Given the description of an element on the screen output the (x, y) to click on. 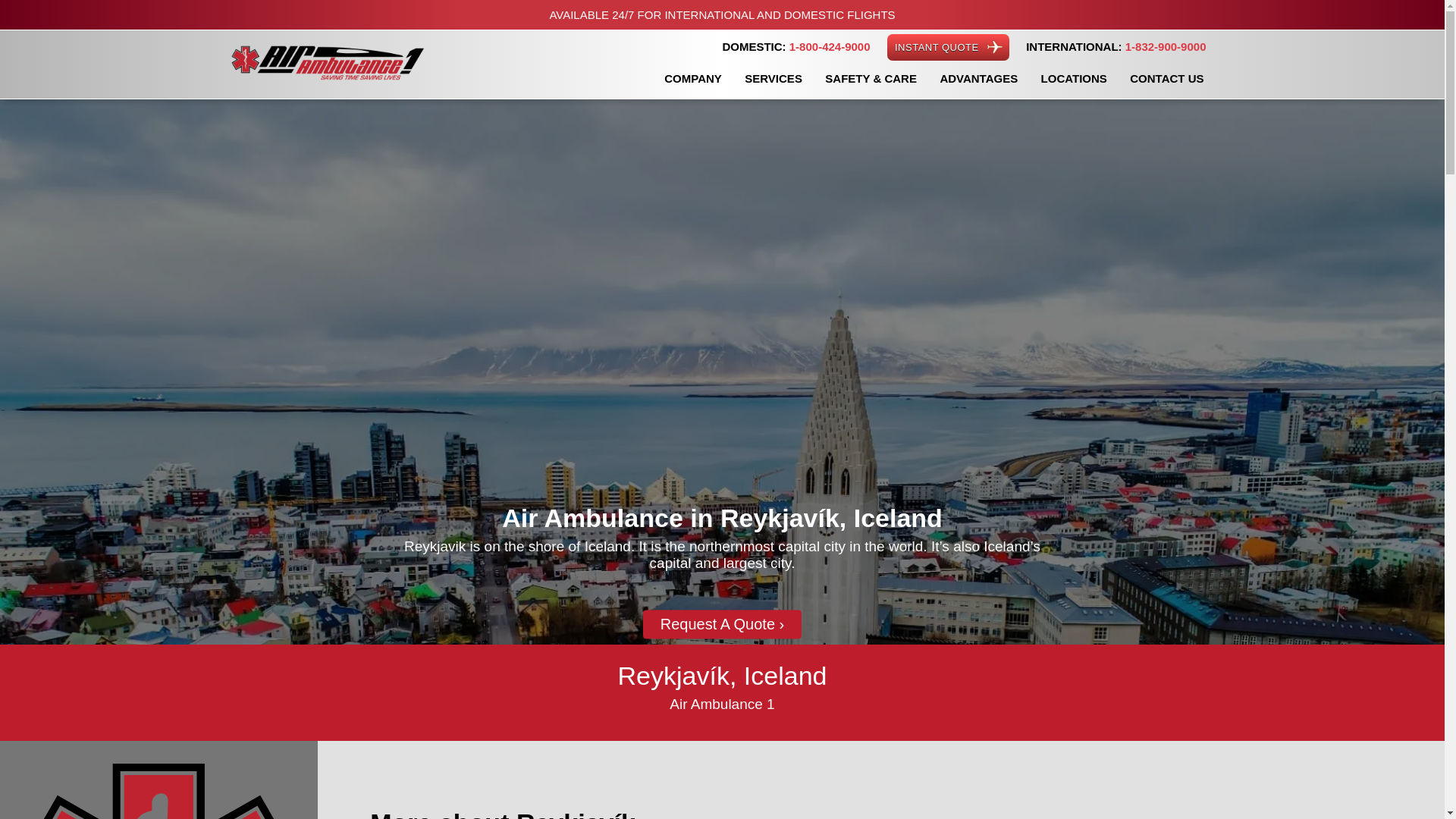
ADVANTAGES (978, 78)
DOMESTIC: 1-800-424-9000 (795, 46)
COMPANY (692, 78)
INSTANT QUOTE (947, 47)
INTERNATIONAL: 1-832-900-9000 (1114, 46)
SERVICES (773, 78)
